Given the description of an element on the screen output the (x, y) to click on. 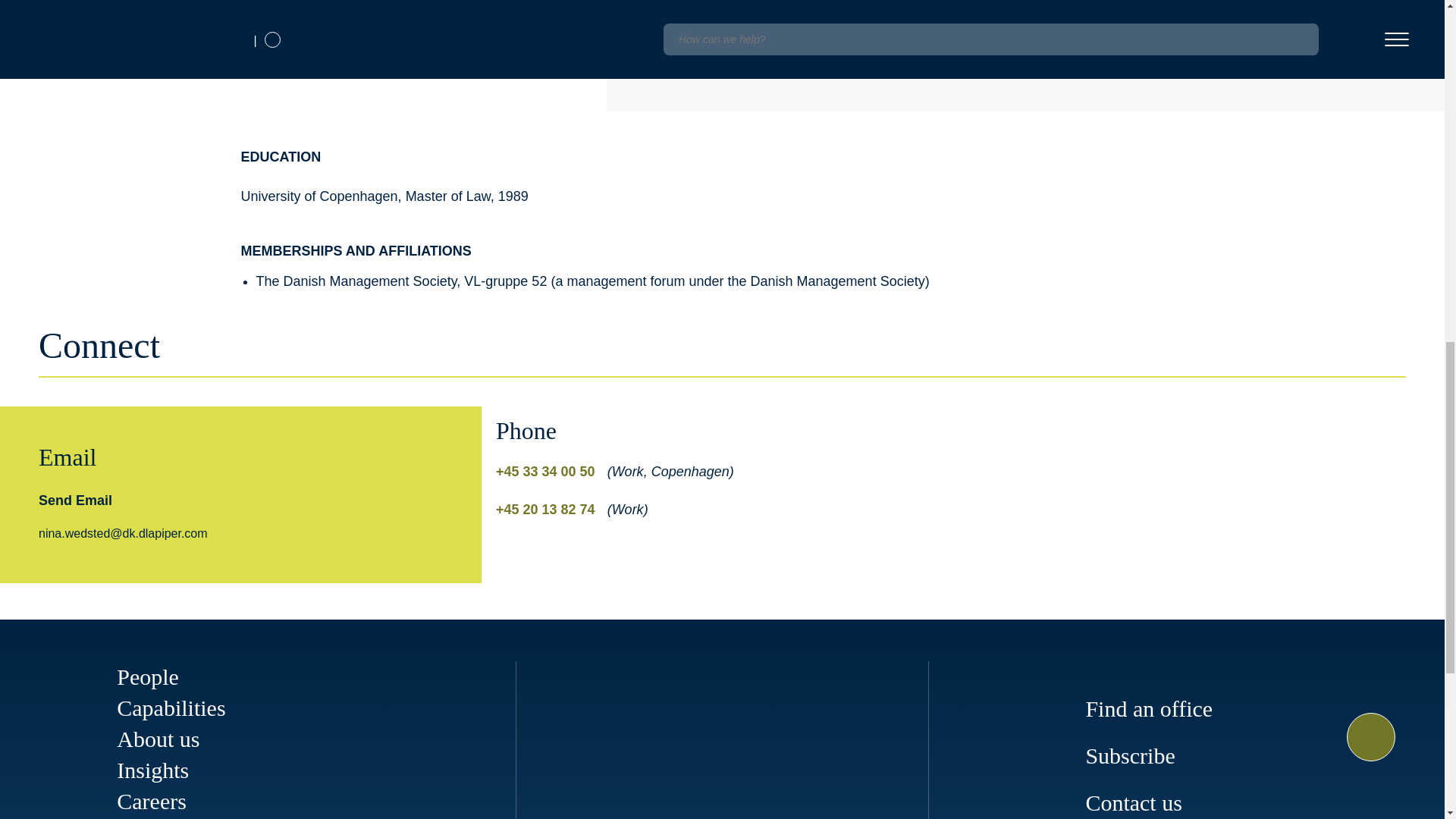
People (147, 676)
Capabilities (170, 707)
Send Email (75, 500)
Employment (759, 9)
About us (157, 738)
